Given the description of an element on the screen output the (x, y) to click on. 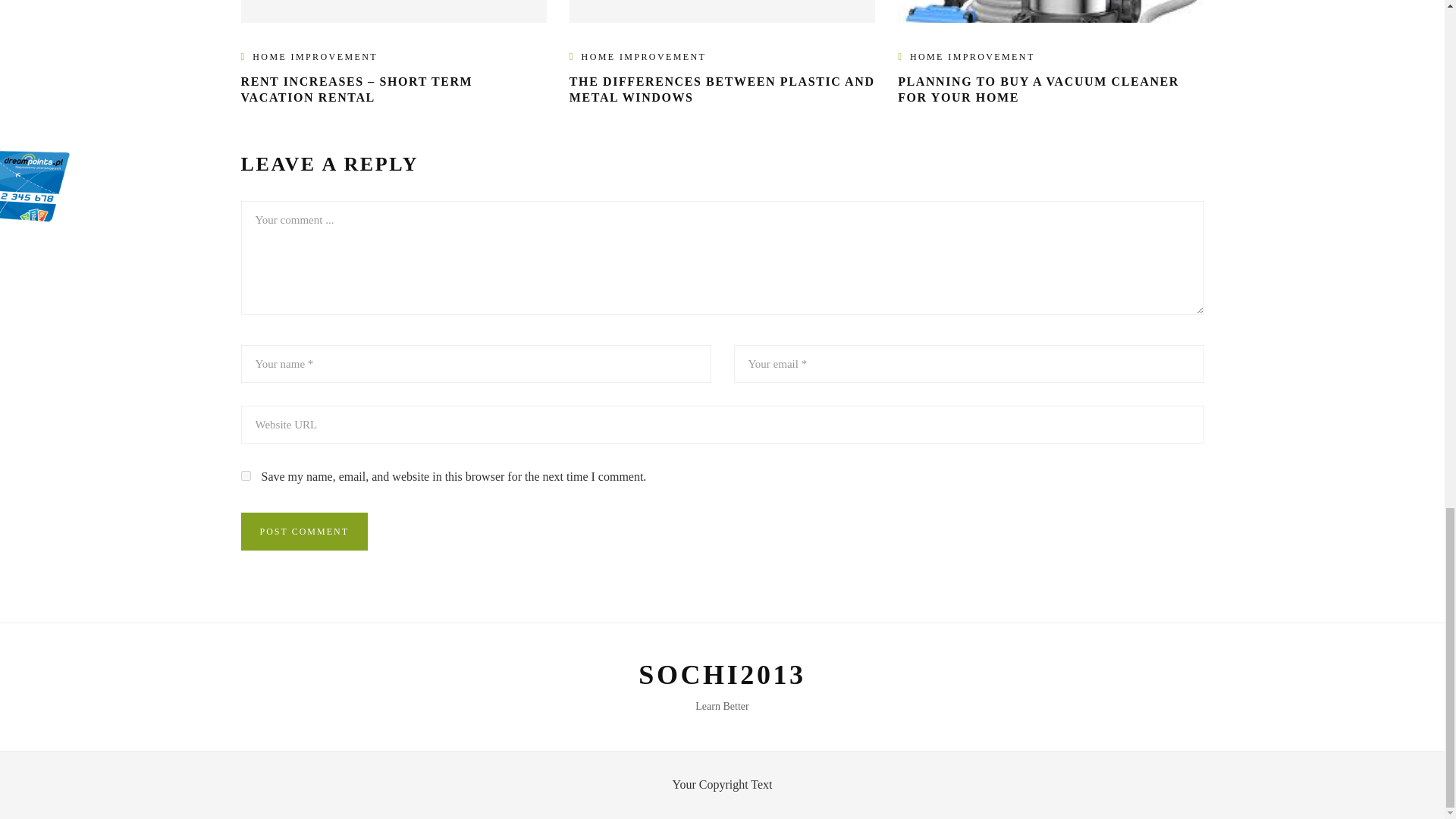
Post Comment (304, 531)
Post Comment (304, 531)
SOCHI2013 (722, 675)
HOME IMPROVEMENT (643, 56)
PLANNING TO BUY A VACUUM CLEANER FOR YOUR HOME (1038, 89)
HOME IMPROVEMENT (972, 56)
THE DIFFERENCES BETWEEN PLASTIC AND METAL WINDOWS (722, 89)
yes (245, 475)
HOME IMPROVEMENT (314, 56)
